Given the description of an element on the screen output the (x, y) to click on. 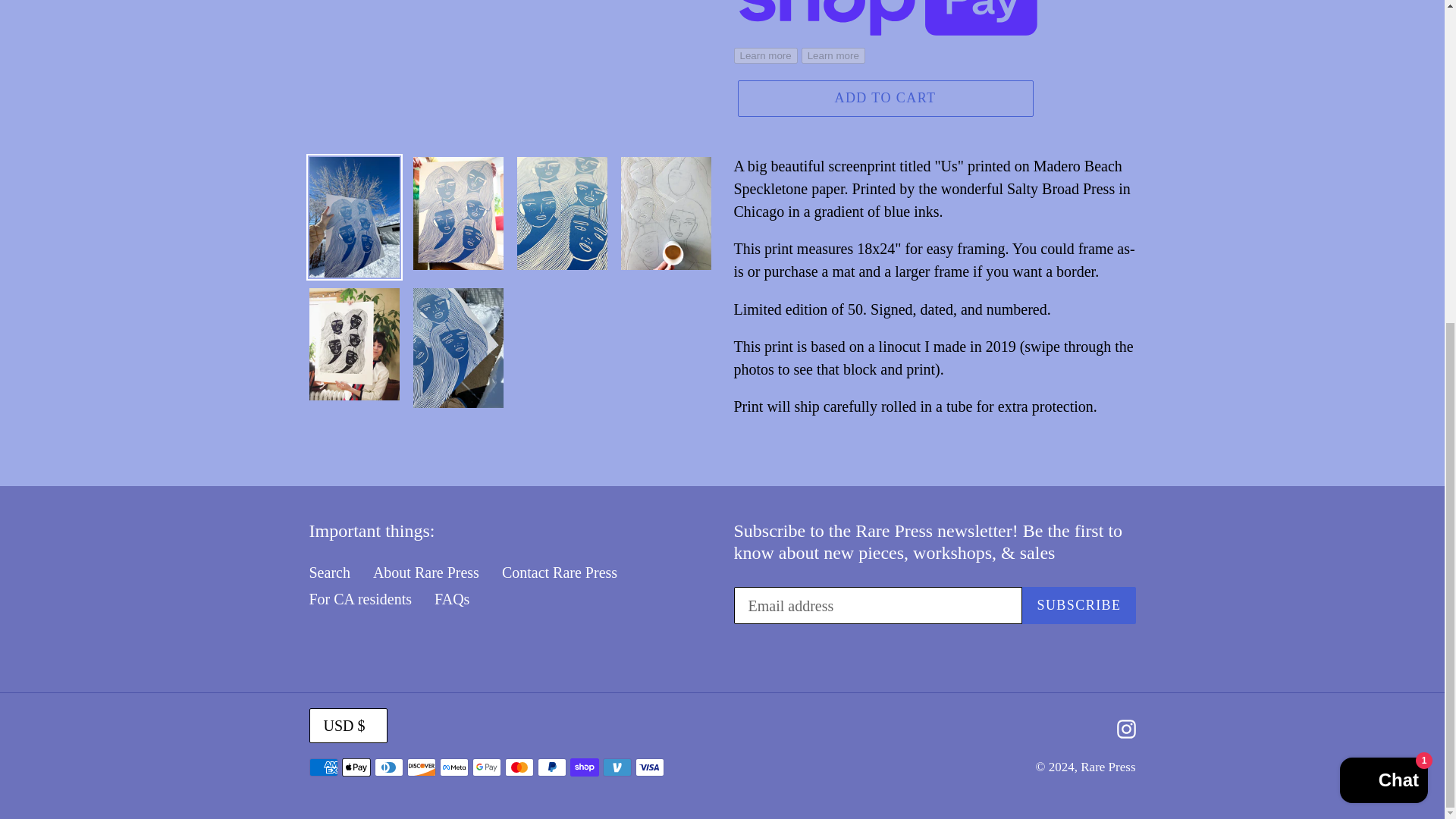
Shopify online store chat (1383, 255)
